Given the description of an element on the screen output the (x, y) to click on. 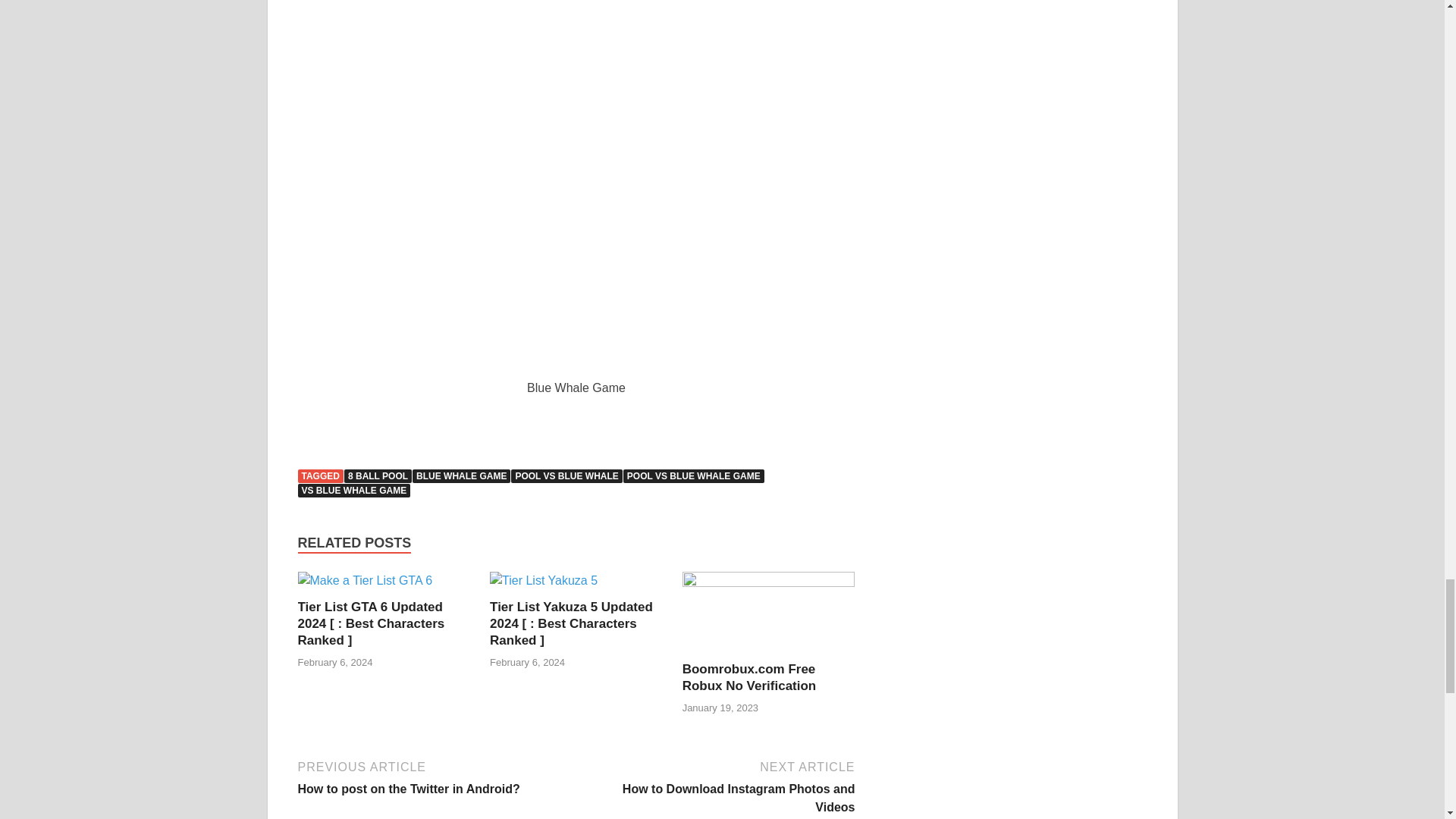
POOL VS BLUE WHALE (566, 476)
VS BLUE WHALE GAME (353, 490)
Boomrobux.com Free Robux No Verification (769, 582)
Boomrobux.com Free Robux No Verification (749, 676)
POOL VS BLUE WHALE GAME (693, 476)
Boomrobux.com Free Robux No Verification (749, 676)
8 BALL POOL (377, 476)
BLUE WHALE GAME (717, 786)
